Given the description of an element on the screen output the (x, y) to click on. 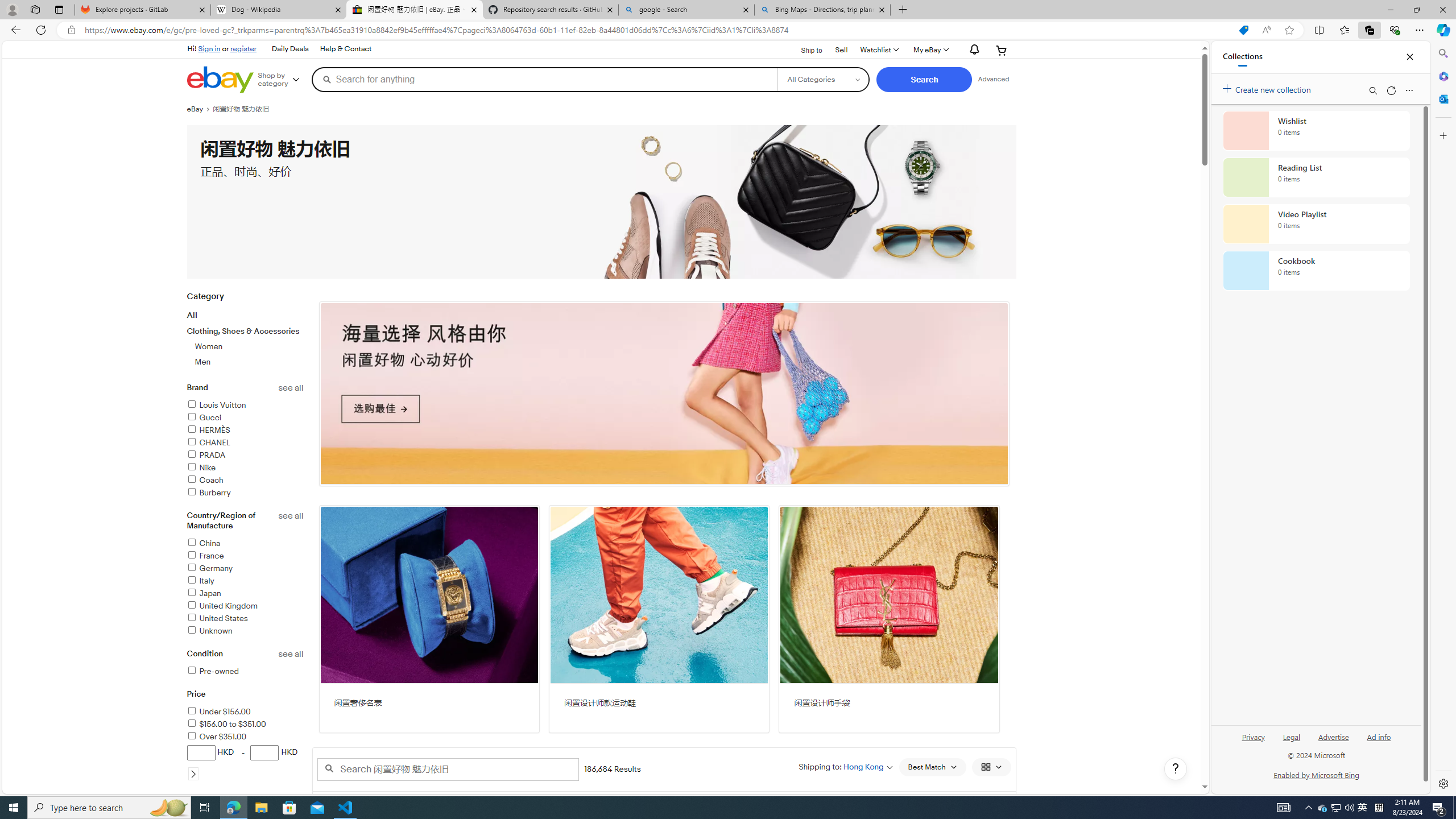
Watchlist (878, 49)
Germany (209, 568)
Italy (245, 581)
View: Gallery View (991, 766)
Japan (245, 593)
See all country/region of manufacture refinements (291, 516)
eBay (199, 108)
Create new collection (1268, 87)
